Given the description of an element on the screen output the (x, y) to click on. 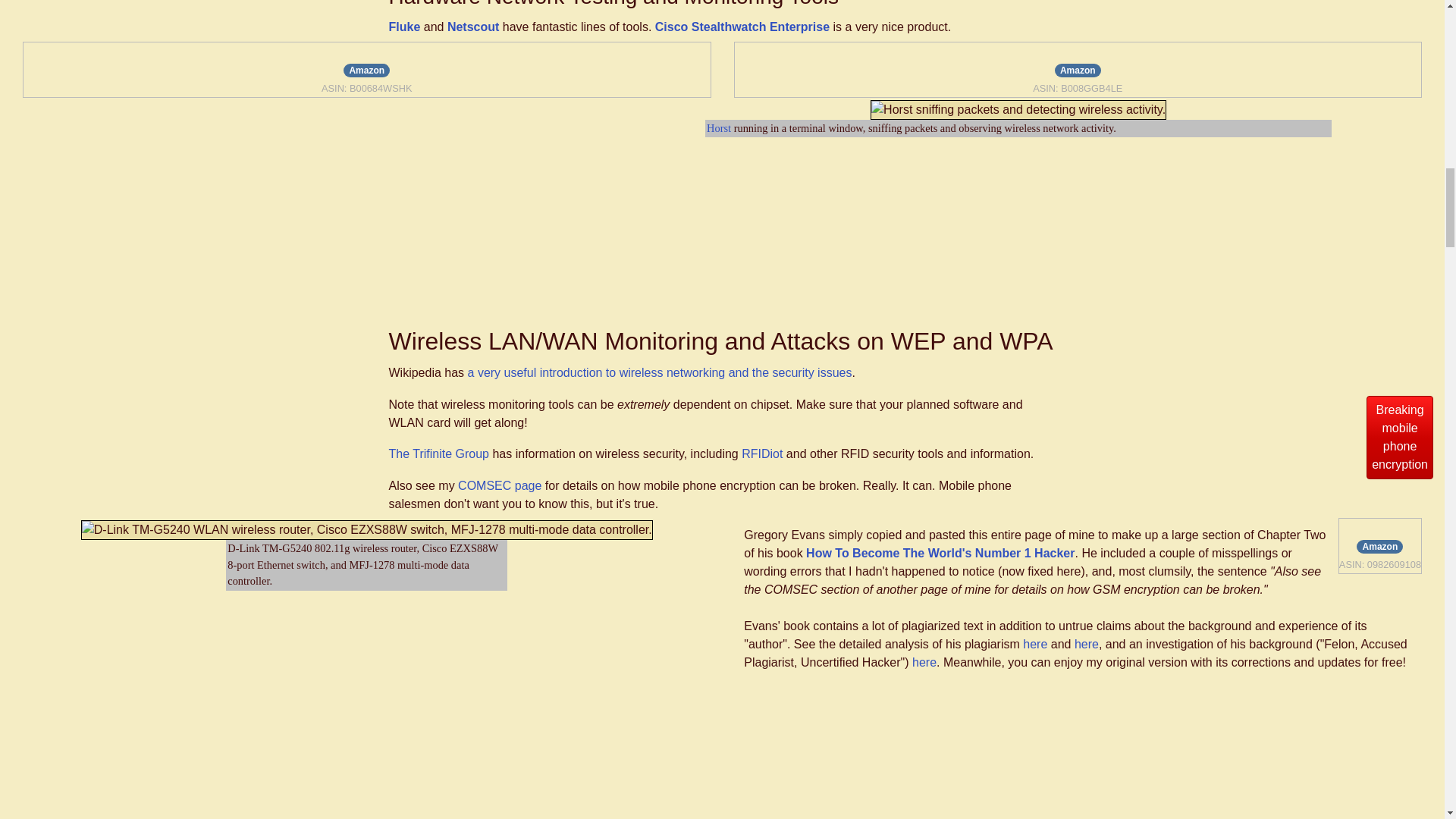
Cisco Stealthwatch Enterprise (742, 26)
The Trifinite Group (438, 453)
Fluke (1399, 437)
How To Become The World's Number 1 Hacker (404, 26)
Horst (940, 553)
here (718, 127)
COMSEC page (1086, 644)
here (499, 485)
here (1034, 644)
RFIDiot (924, 662)
Netscout (762, 453)
